Given the description of an element on the screen output the (x, y) to click on. 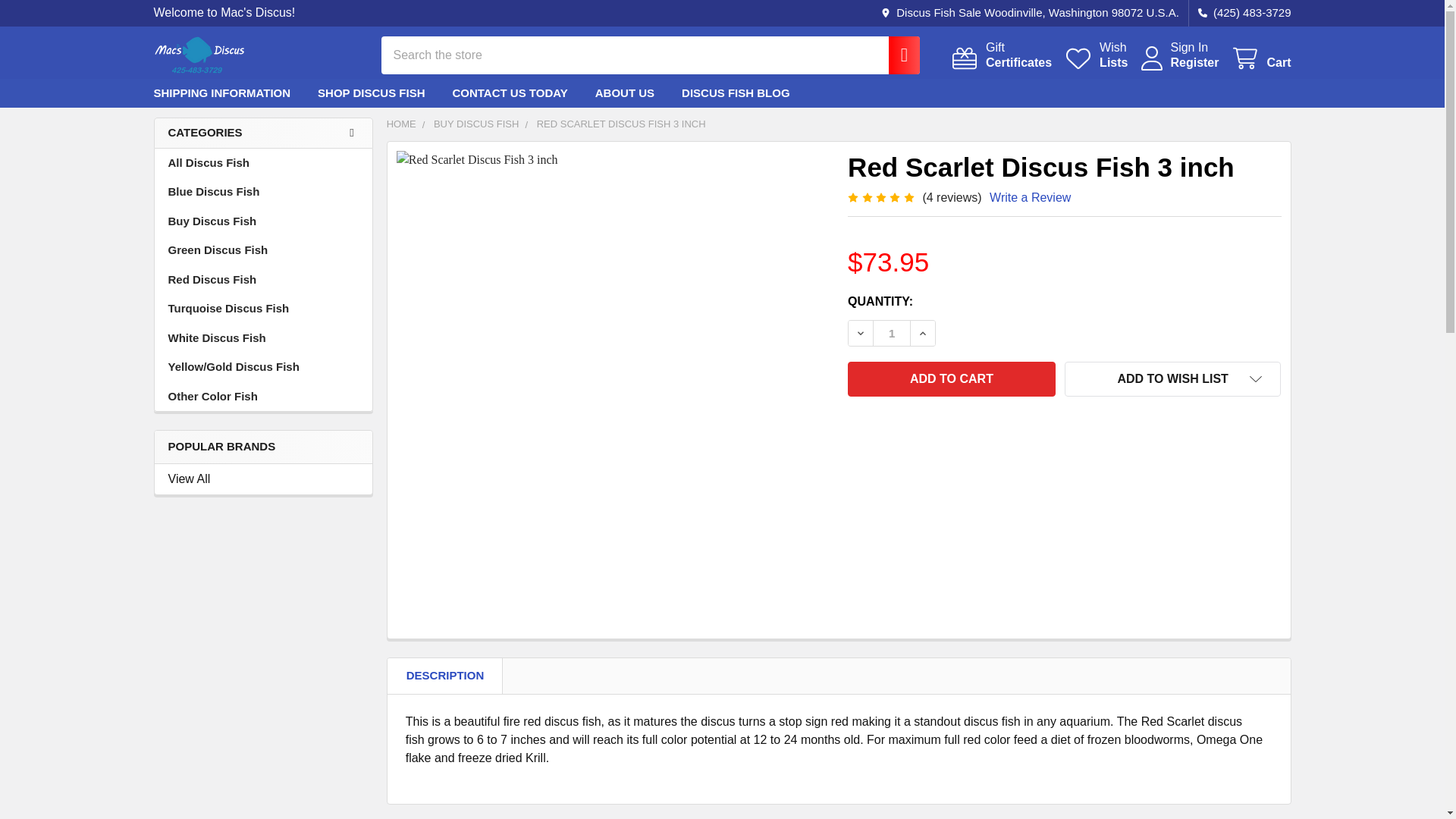
Gift Certificates (1000, 55)
Search (896, 55)
Add to Cart (951, 378)
All Discus Fish (263, 163)
Search (1000, 55)
Sign In (896, 55)
CATEGORIES (1189, 47)
White Discus Fish (262, 132)
Register (263, 337)
